Given the description of an element on the screen output the (x, y) to click on. 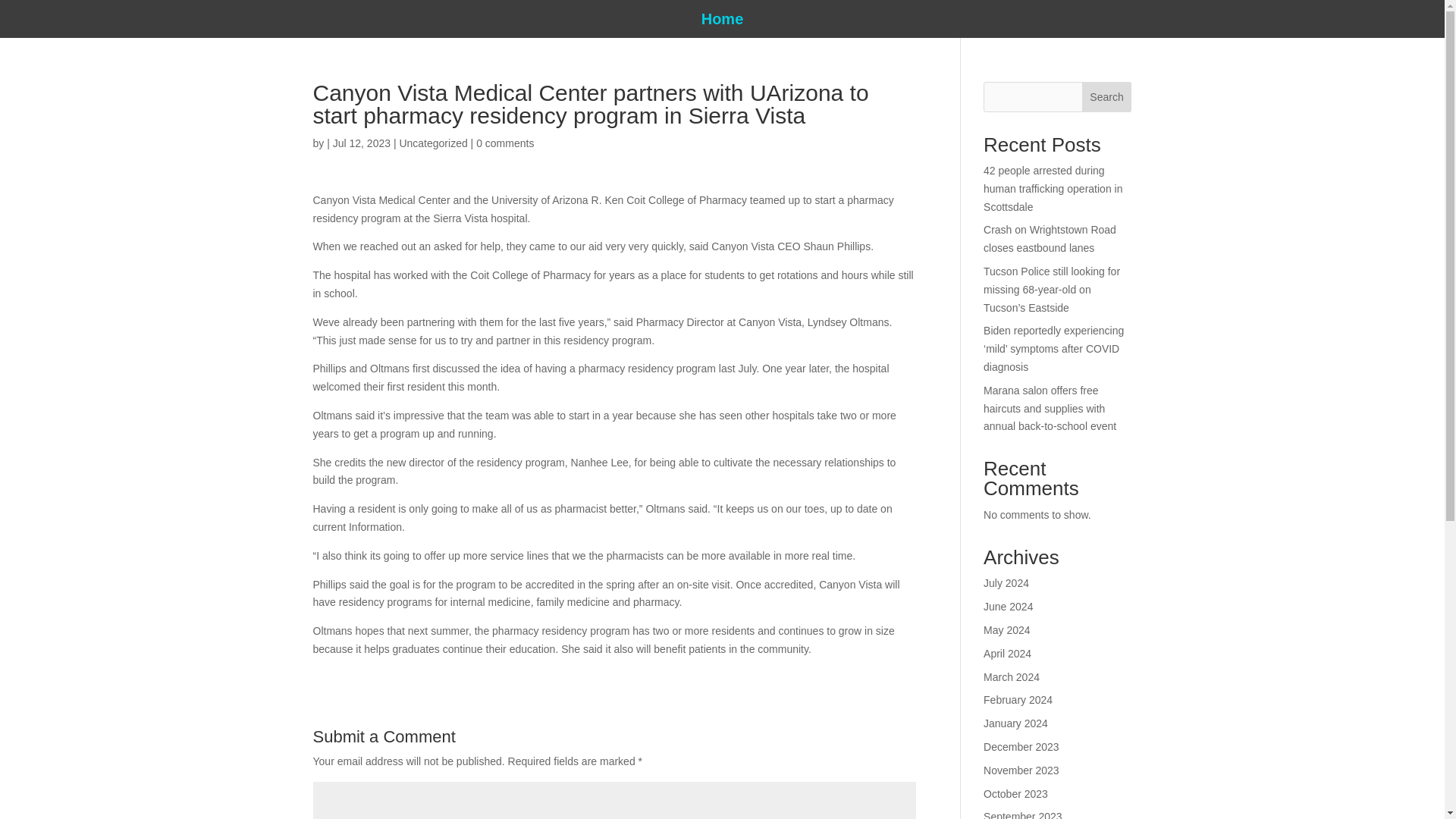
March 2024 (1011, 676)
July 2024 (1006, 582)
September 2023 (1023, 814)
November 2023 (1021, 770)
Home (722, 21)
October 2023 (1016, 793)
0 comments (505, 143)
Uncategorized (432, 143)
February 2024 (1018, 699)
May 2024 (1006, 630)
January 2024 (1016, 723)
Crash on Wrightstown Road closes eastbound lanes (1050, 238)
April 2024 (1007, 653)
December 2023 (1021, 746)
